Given the description of an element on the screen output the (x, y) to click on. 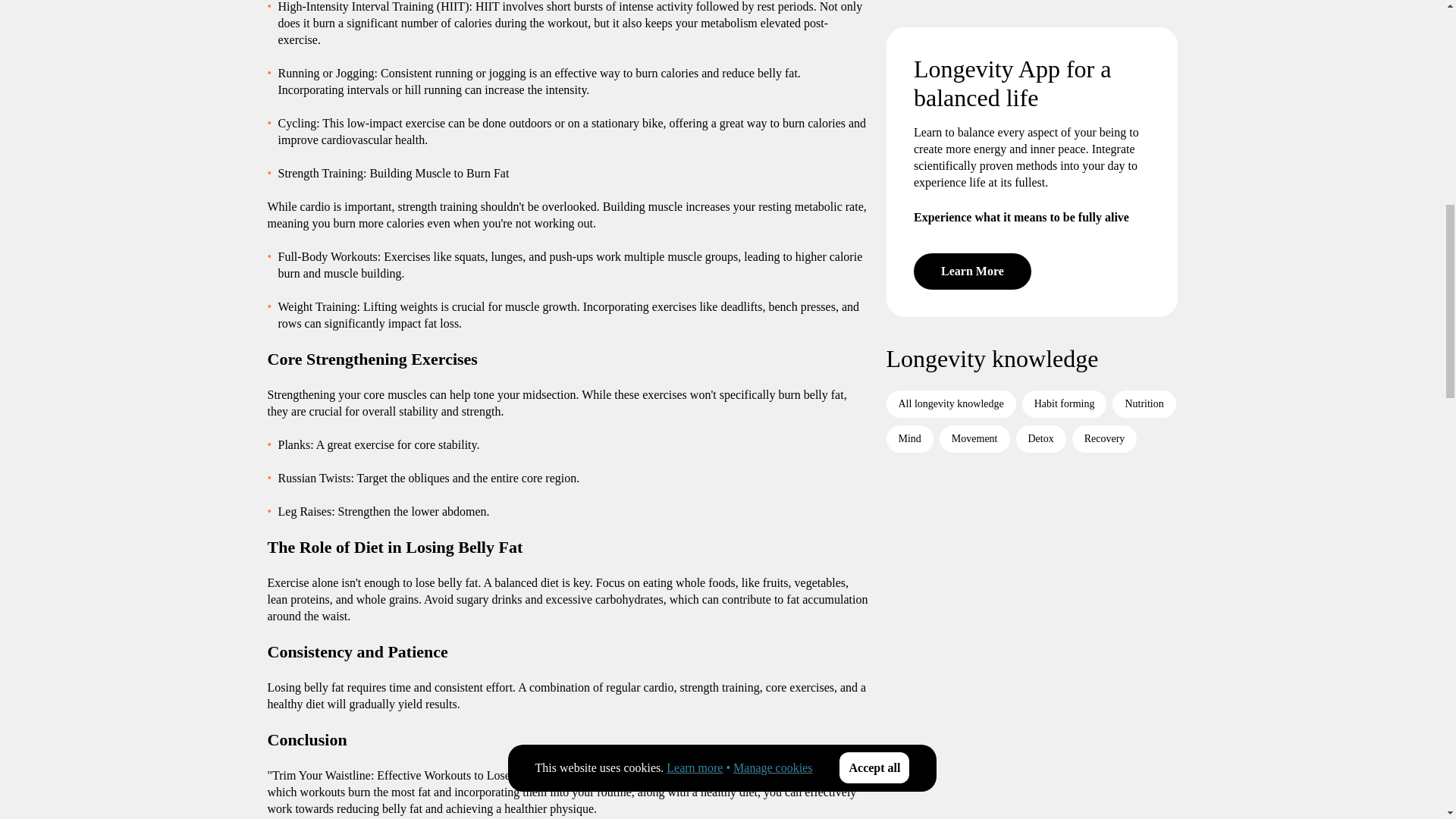
Movement (974, 234)
Learn More (971, 66)
Nutrition (1143, 198)
All longevity knowledge (949, 198)
Mind (909, 234)
Recovery (1104, 234)
Habit forming (1064, 198)
Detox (1040, 234)
